Given the description of an element on the screen output the (x, y) to click on. 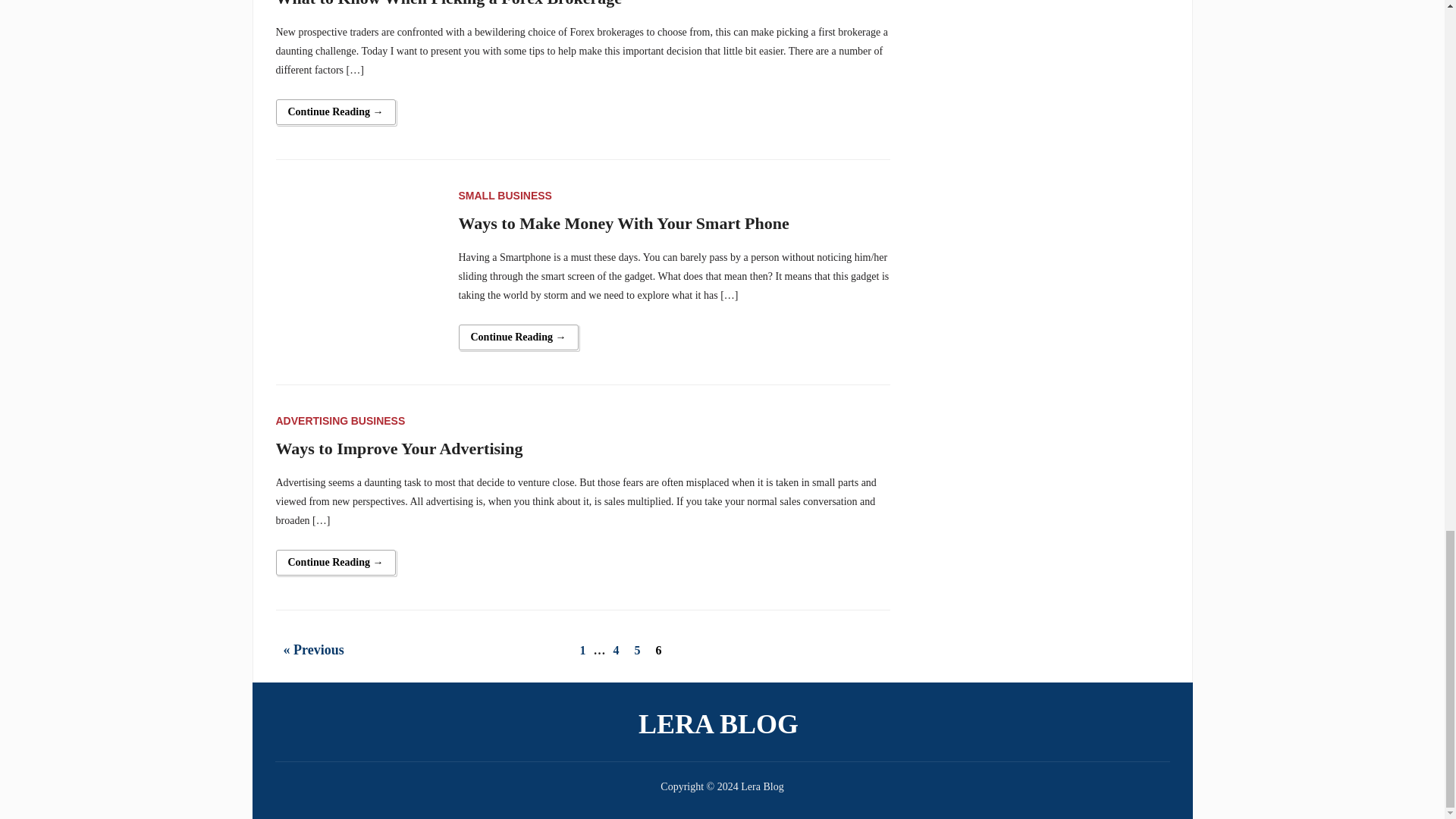
Permalink to What to Know When Picking a Forex Brokerage (336, 112)
Ways to Make Money With Your Smart Phone (357, 267)
Permalink to Ways to Improve Your Advertising (336, 562)
Permalink to Ways to Make Money With Your Smart Phone (518, 337)
